Given the description of an element on the screen output the (x, y) to click on. 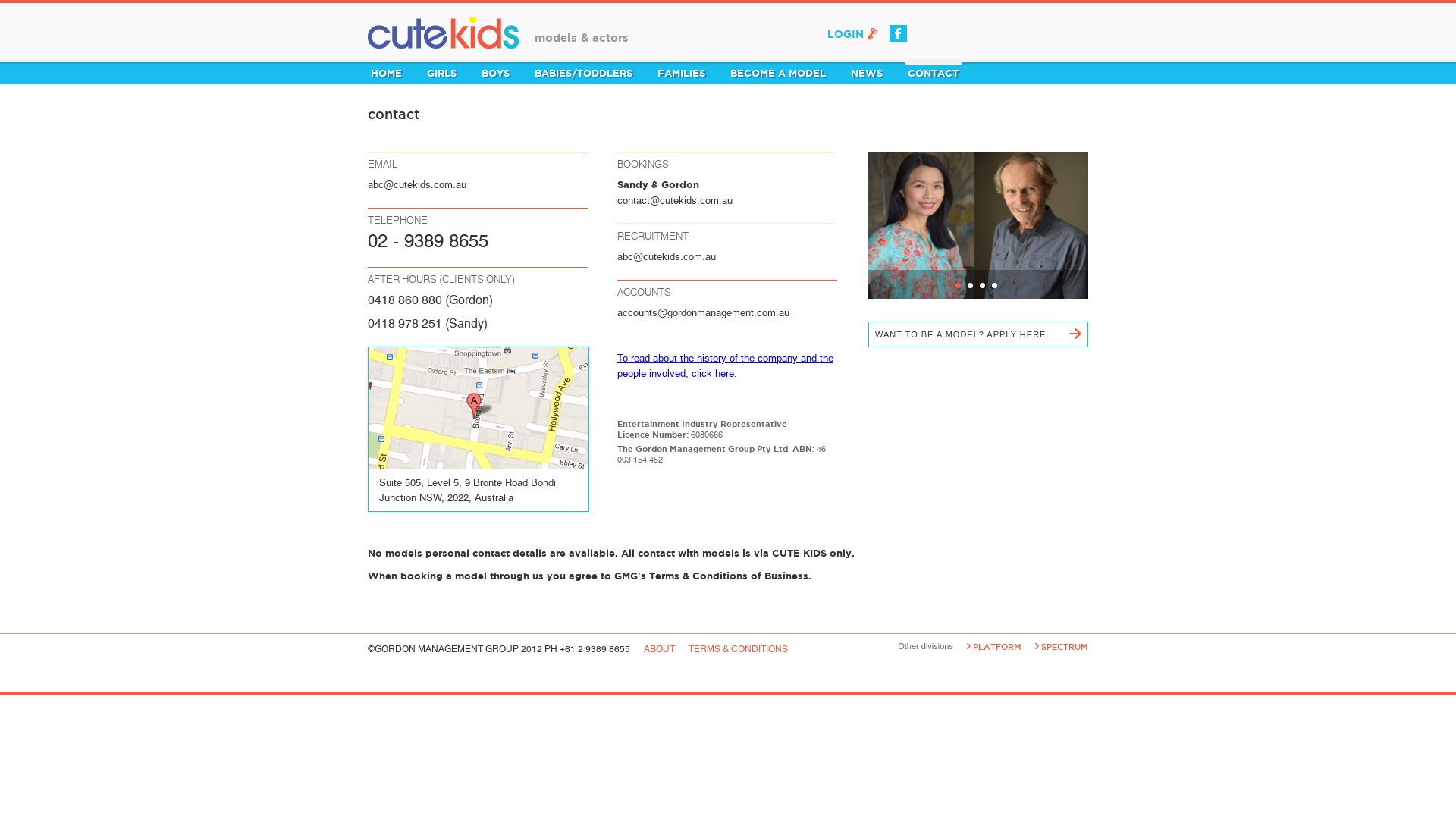
WANT TO BE A MODEL? APPLY HERE Element type: text (978, 334)
BABIES/TODDLERS Element type: text (583, 73)
FAMILIES Element type: text (681, 73)
BECOME A MODEL Element type: text (777, 73)
HOME Element type: text (385, 73)
SPECTRUM Element type: text (1064, 646)
BOYS Element type: text (495, 73)
NEWS Element type: text (866, 73)
TERMS & CONDITIONS Element type: text (737, 648)
ABOUT Element type: text (660, 648)
PLATFORM Element type: text (996, 646)
GIRLS Element type: text (441, 73)
CONTACT Element type: text (932, 73)
LOGIN Element type: text (852, 36)
models & actors
Spectrum - Sydney Australia Element type: text (649, 26)
